Given the description of an element on the screen output the (x, y) to click on. 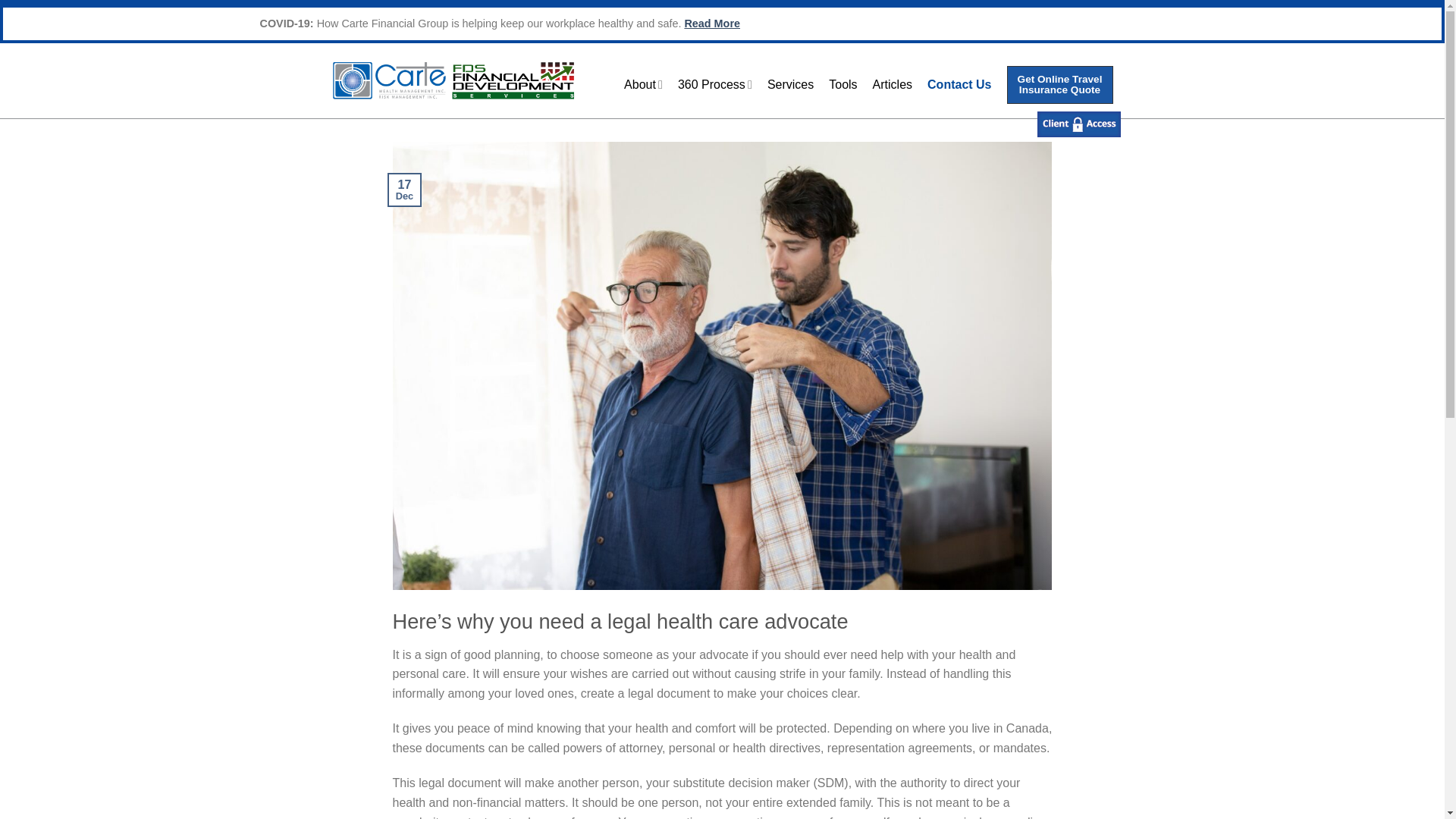
About (643, 84)
Contact Us (959, 84)
Get Online Travel Insurance Quote (1060, 85)
Services (790, 84)
Read More (711, 23)
Articles (892, 84)
Fahim Dadan - Your Carte Financial Advisor (449, 80)
Tools (842, 84)
360 Process (715, 84)
